Given the description of an element on the screen output the (x, y) to click on. 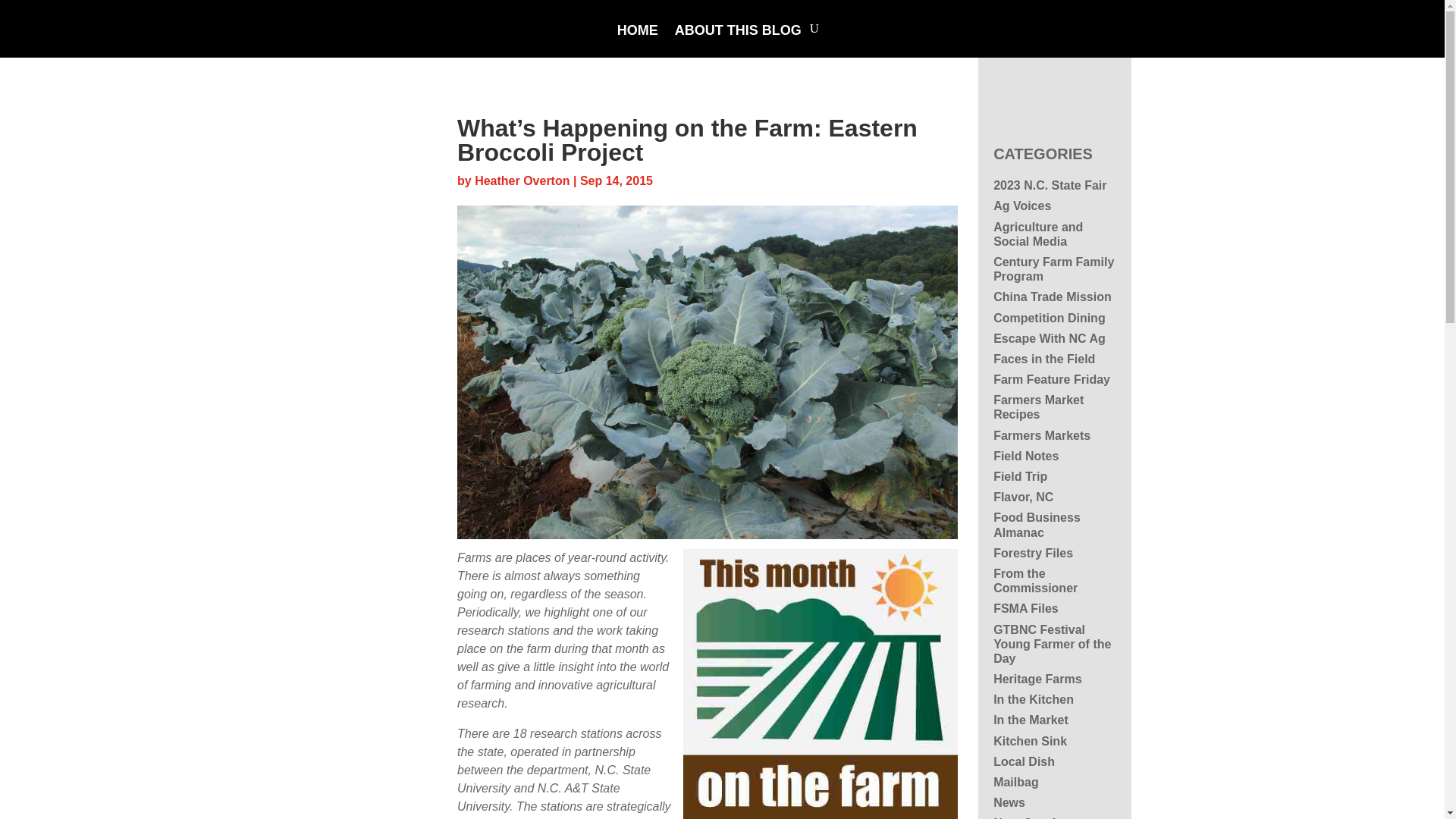
In the Market (1030, 719)
From the Commissioner (1034, 580)
Competition Dining (1048, 317)
Field Notes (1025, 455)
ABOUT THIS BLOG (738, 41)
Field Trip (1019, 476)
In the Kitchen (1033, 698)
HOME (637, 41)
Agriculture and Social Media (1037, 234)
FSMA Files (1025, 608)
2023 N.C. State Fair (1049, 185)
Farm Feature Friday (1050, 379)
Farmers Markets (1041, 435)
Faces in the Field (1043, 358)
